Given the description of an element on the screen output the (x, y) to click on. 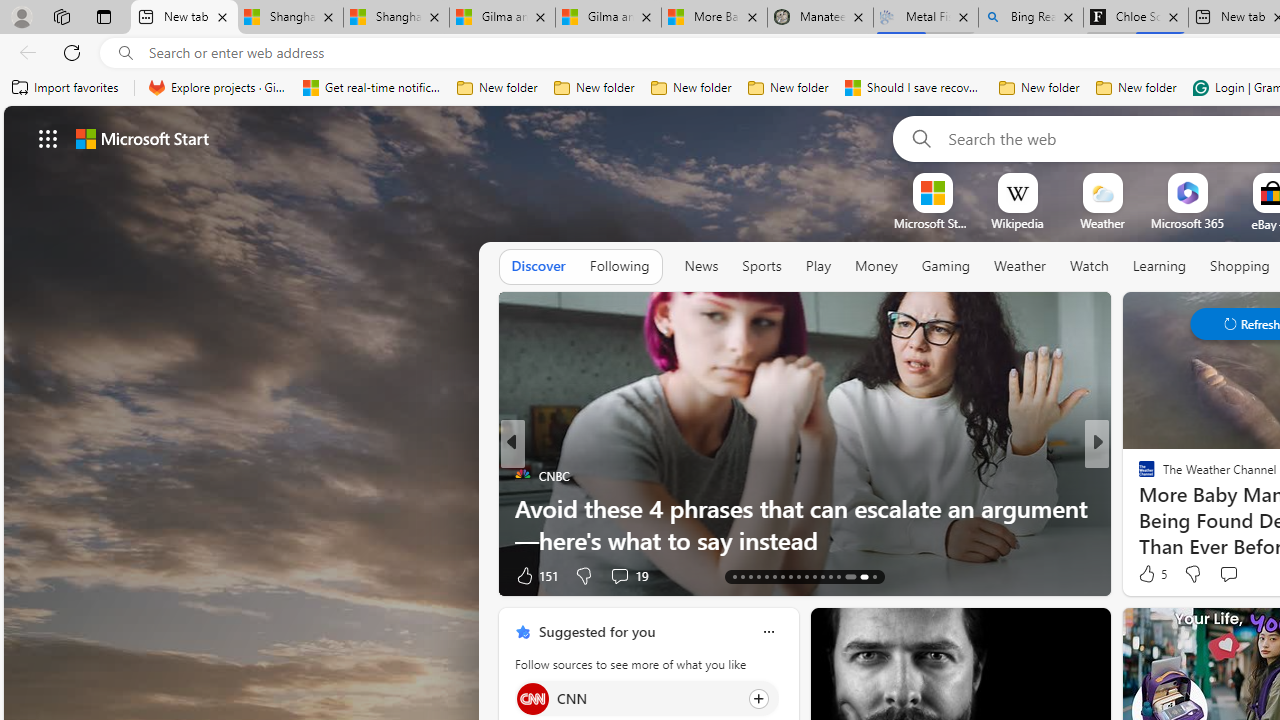
AutomationID: tab-24 (821, 576)
View comments 247 Comment (11, 575)
CNBC (522, 475)
Microsoft start (142, 138)
To get missing image descriptions, open the context menu. (932, 192)
View comments 19 Comment (628, 574)
Gaming (945, 267)
Money (875, 265)
CNN (532, 697)
